Given the description of an element on the screen output the (x, y) to click on. 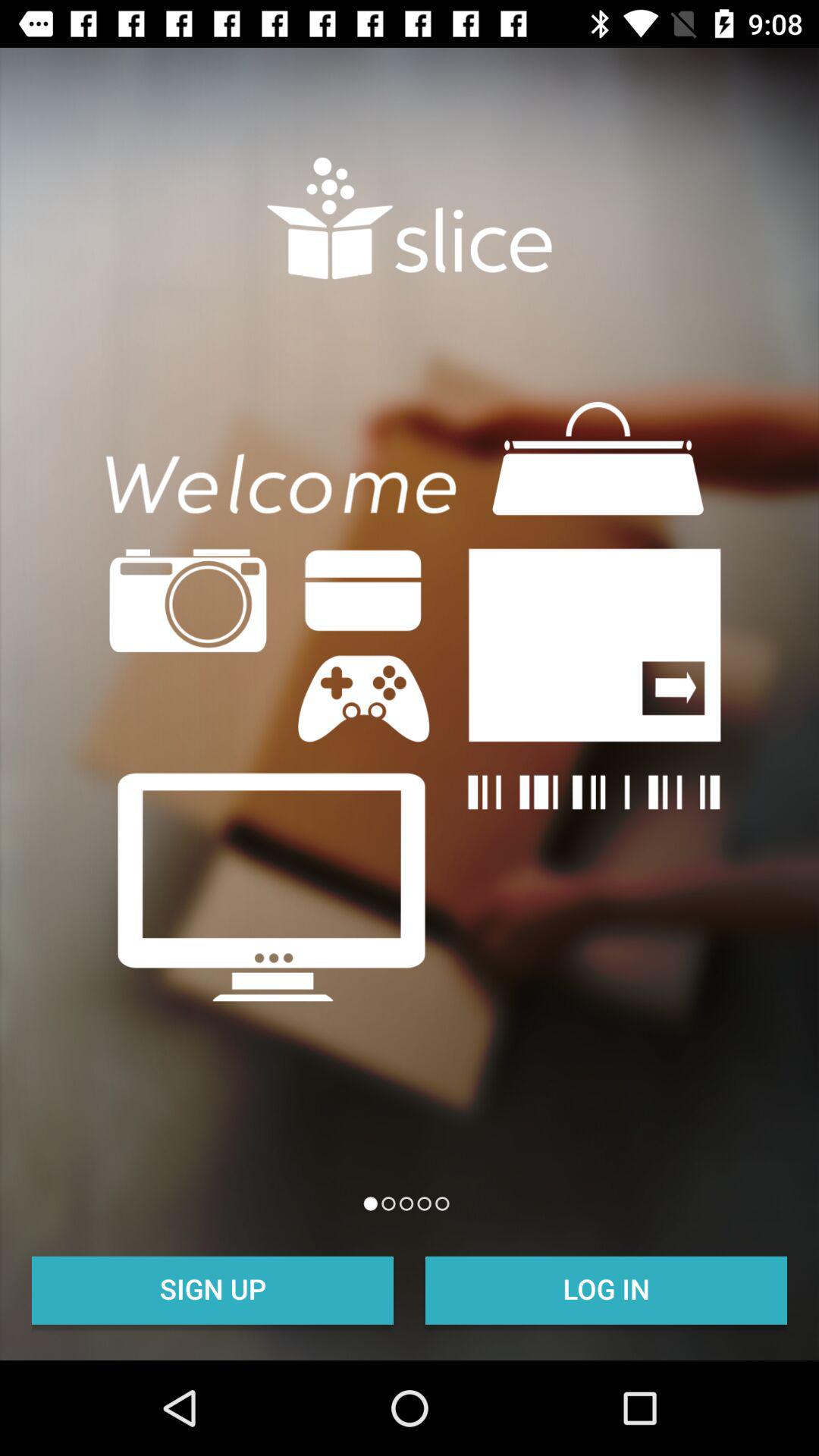
scroll until log in icon (606, 1288)
